Given the description of an element on the screen output the (x, y) to click on. 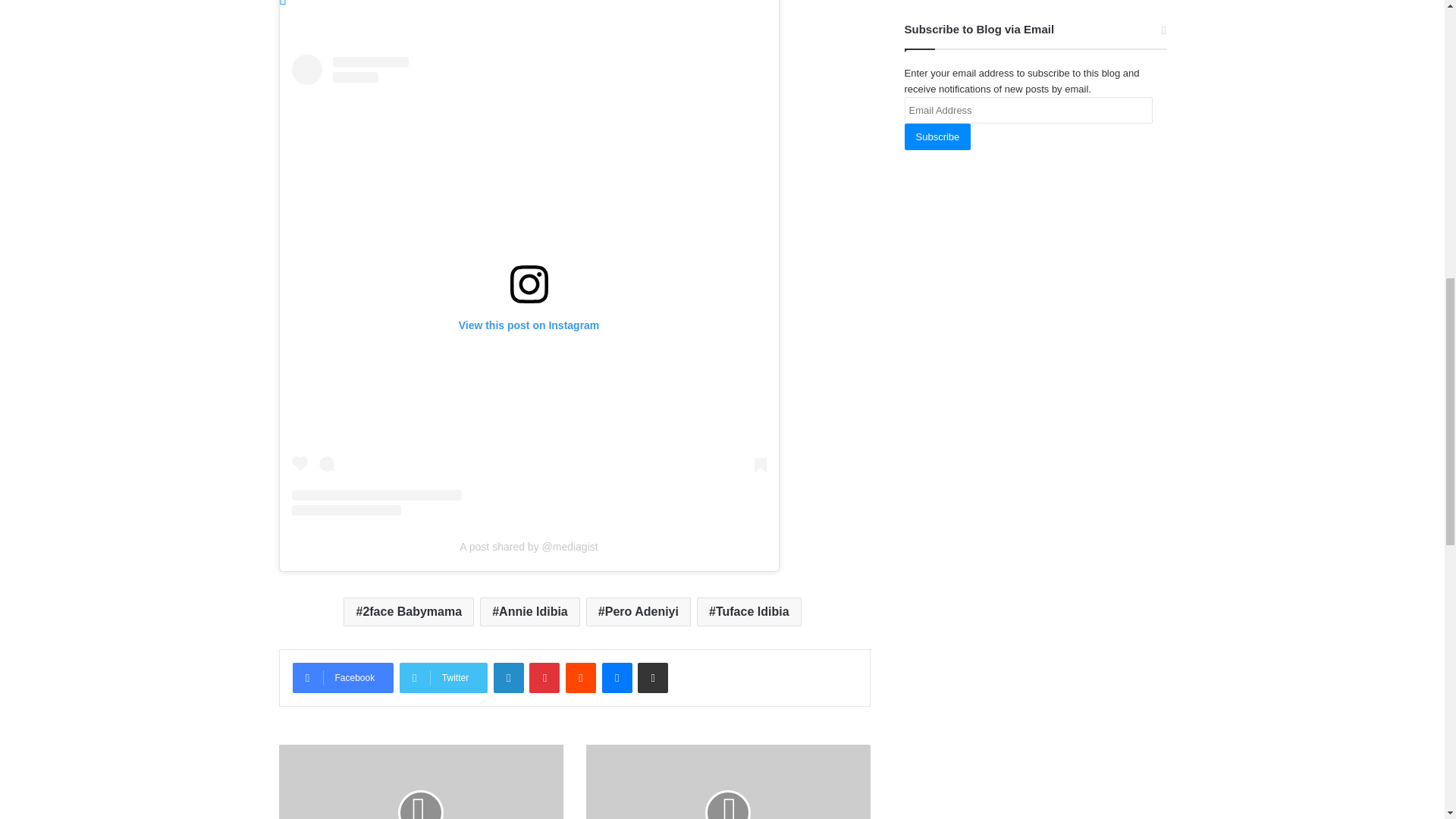
Annie Idibia (529, 611)
Messenger (616, 677)
Facebook (343, 677)
LinkedIn (508, 677)
Tuface Idibia (749, 611)
Pinterest (544, 677)
Pinterest (544, 677)
Share via Email (652, 677)
Pero Adeniyi (638, 611)
